Given the description of an element on the screen output the (x, y) to click on. 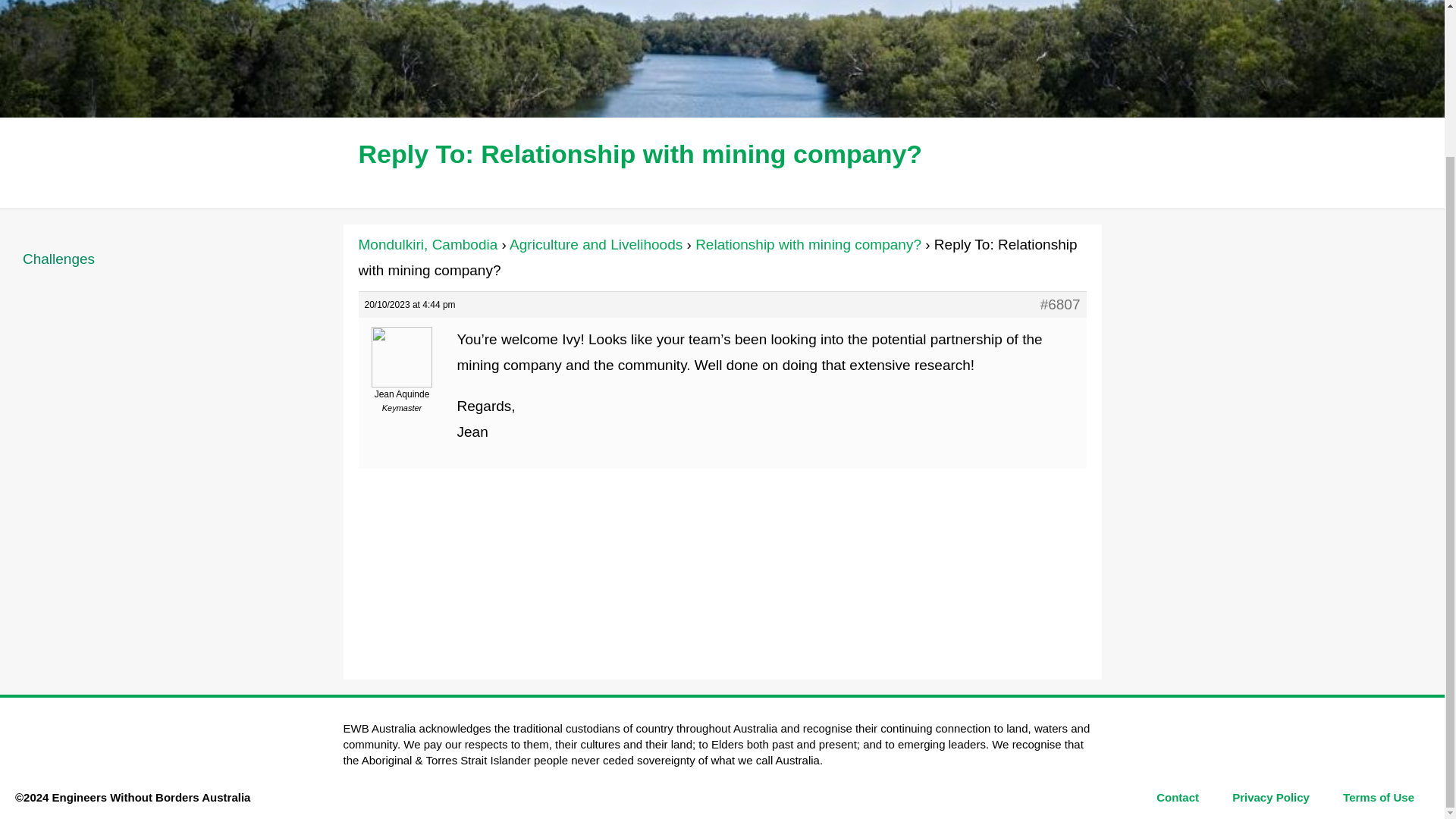
Challenges (171, 258)
